Given the description of an element on the screen output the (x, y) to click on. 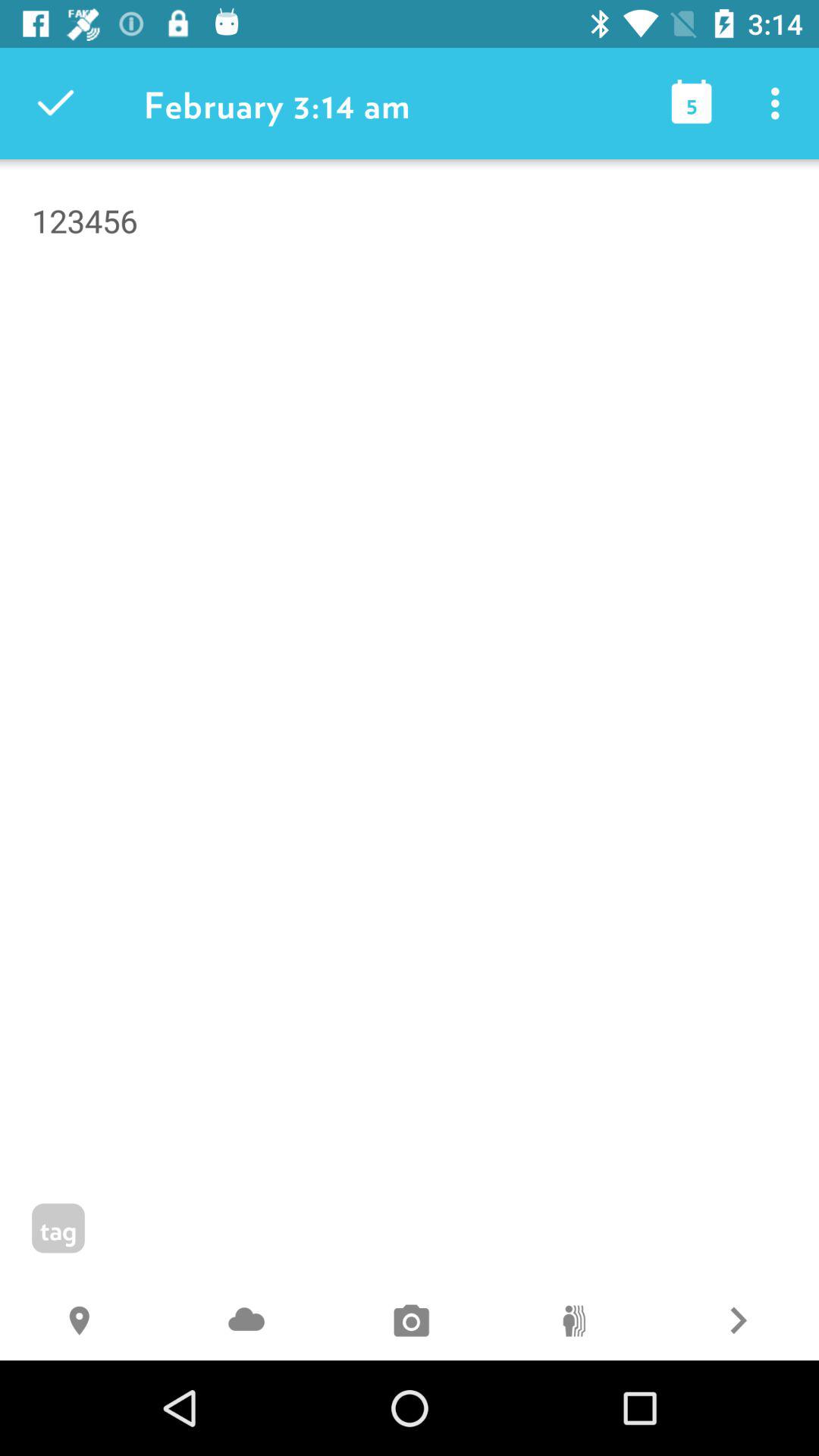
scroll until r icon (737, 1322)
